Given the description of an element on the screen output the (x, y) to click on. 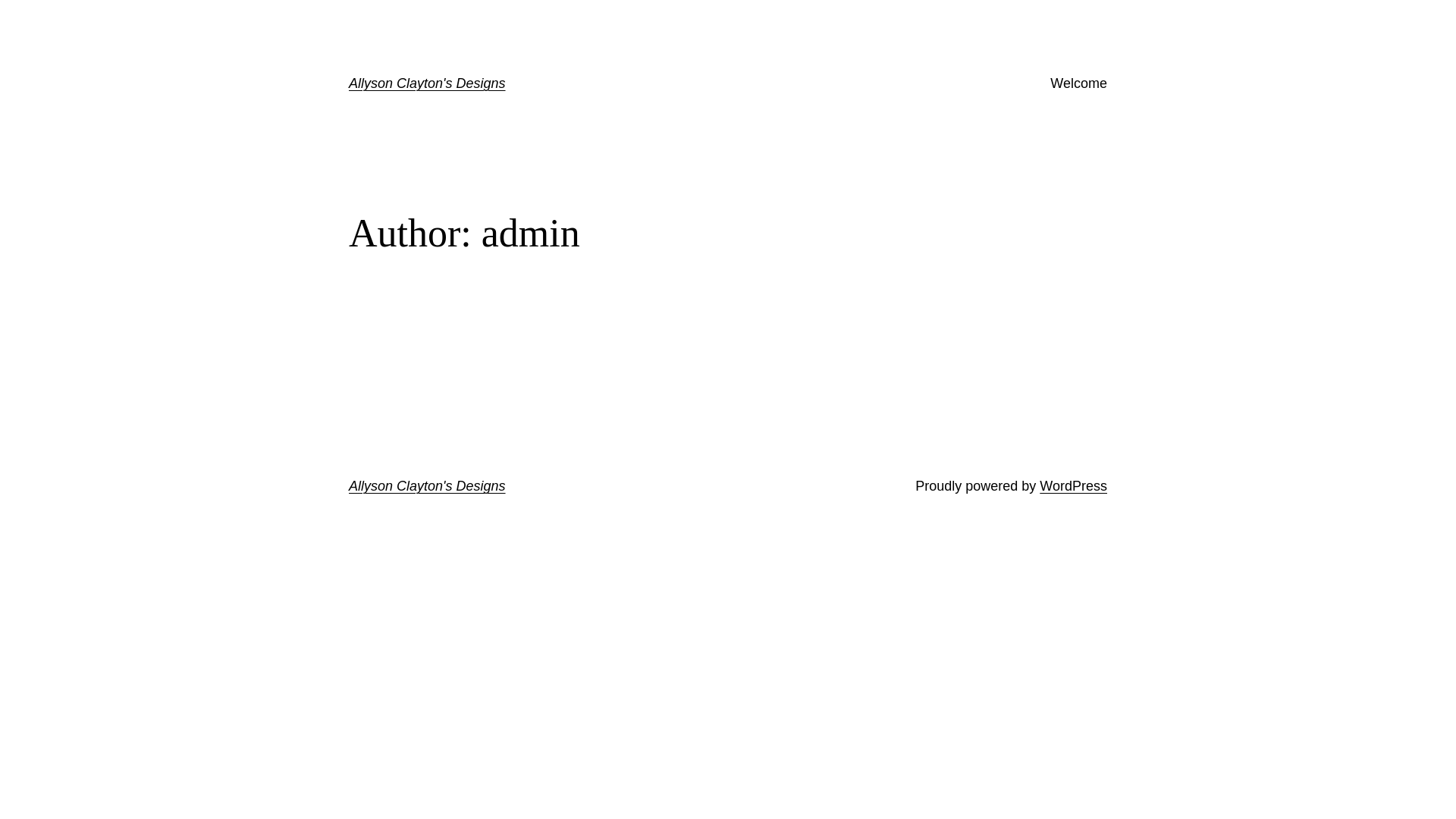
WordPress Element type: text (1073, 485)
Allyson Clayton's Designs Element type: text (426, 485)
Allyson Clayton's Designs Element type: text (426, 83)
Welcome Element type: text (1078, 83)
